Given the description of an element on the screen output the (x, y) to click on. 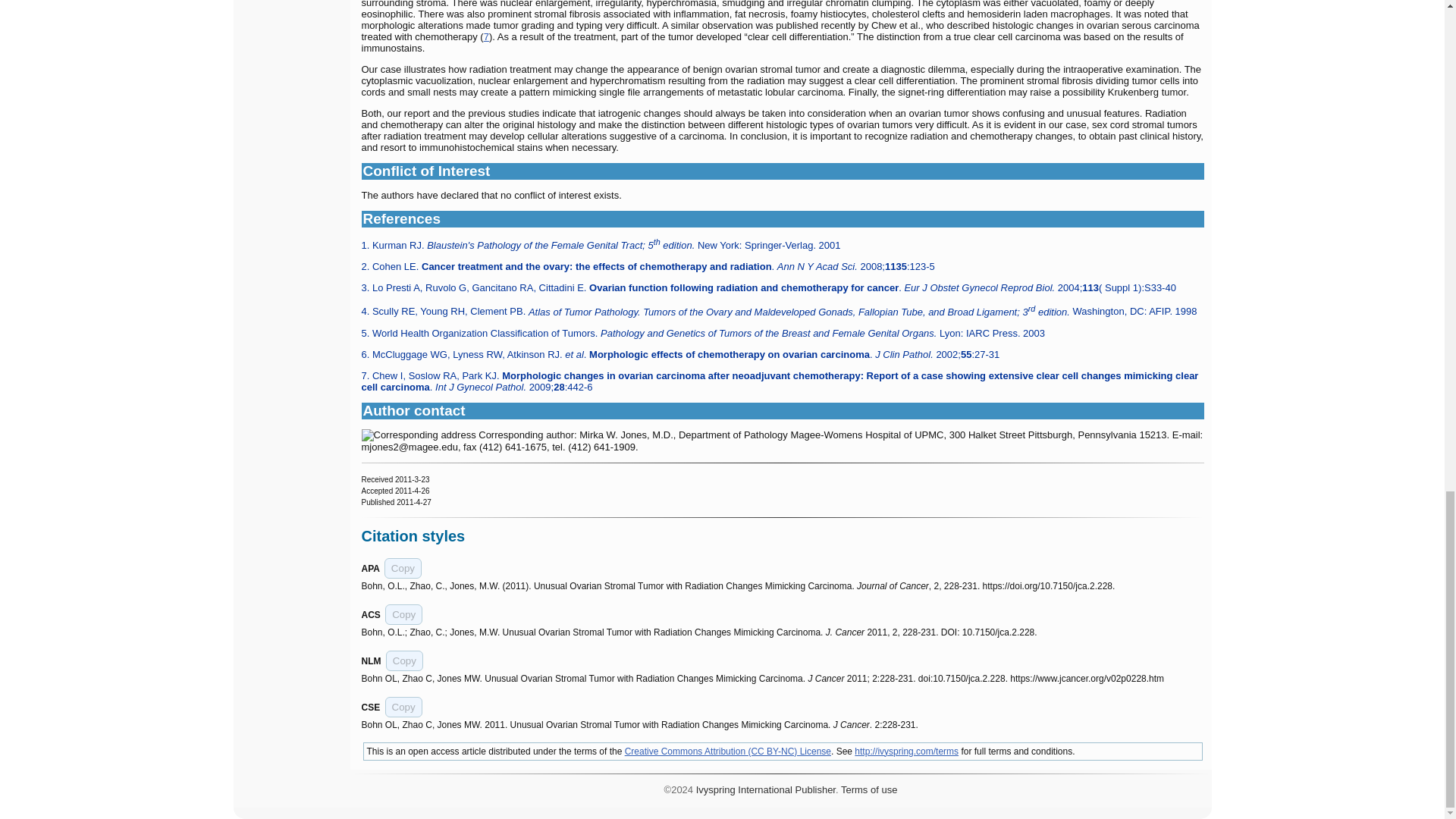
Copy to clipboard (403, 614)
Copy to clipboard (403, 706)
Copy to clipboard (404, 660)
Copy to clipboard (403, 567)
